Given the description of an element on the screen output the (x, y) to click on. 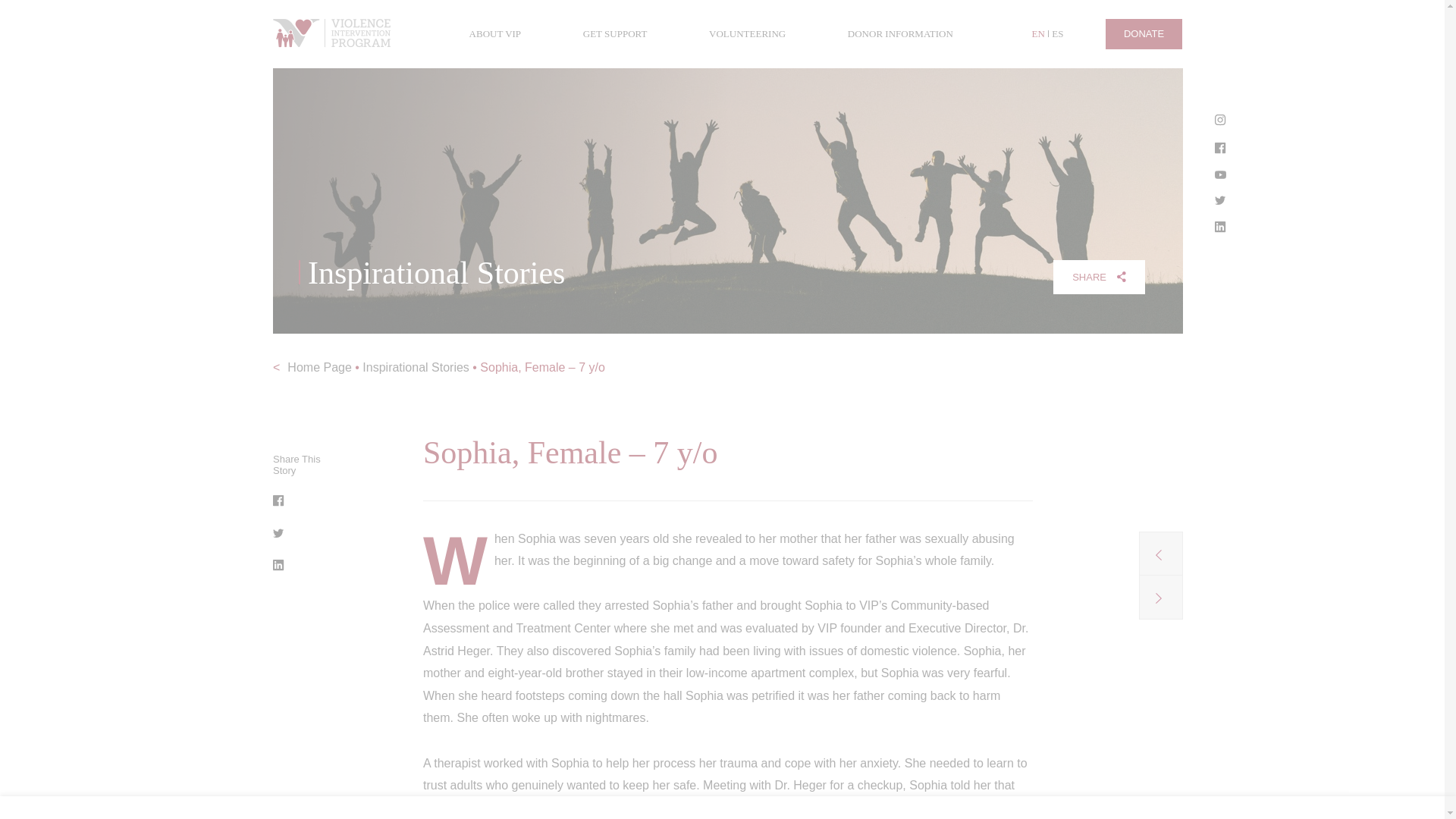
OUR STORY (340, 87)
ABOUT OUR PROGRAMS (456, 87)
OUR FOUNDER (787, 87)
Sandy, Female - 11 Months (1160, 553)
ABOUT H.E.A.R.T. (587, 87)
LEADERSHIP (689, 87)
Gabriela, Female - 15 Months (1160, 597)
RECENT NEWS (887, 87)
